Given the description of an element on the screen output the (x, y) to click on. 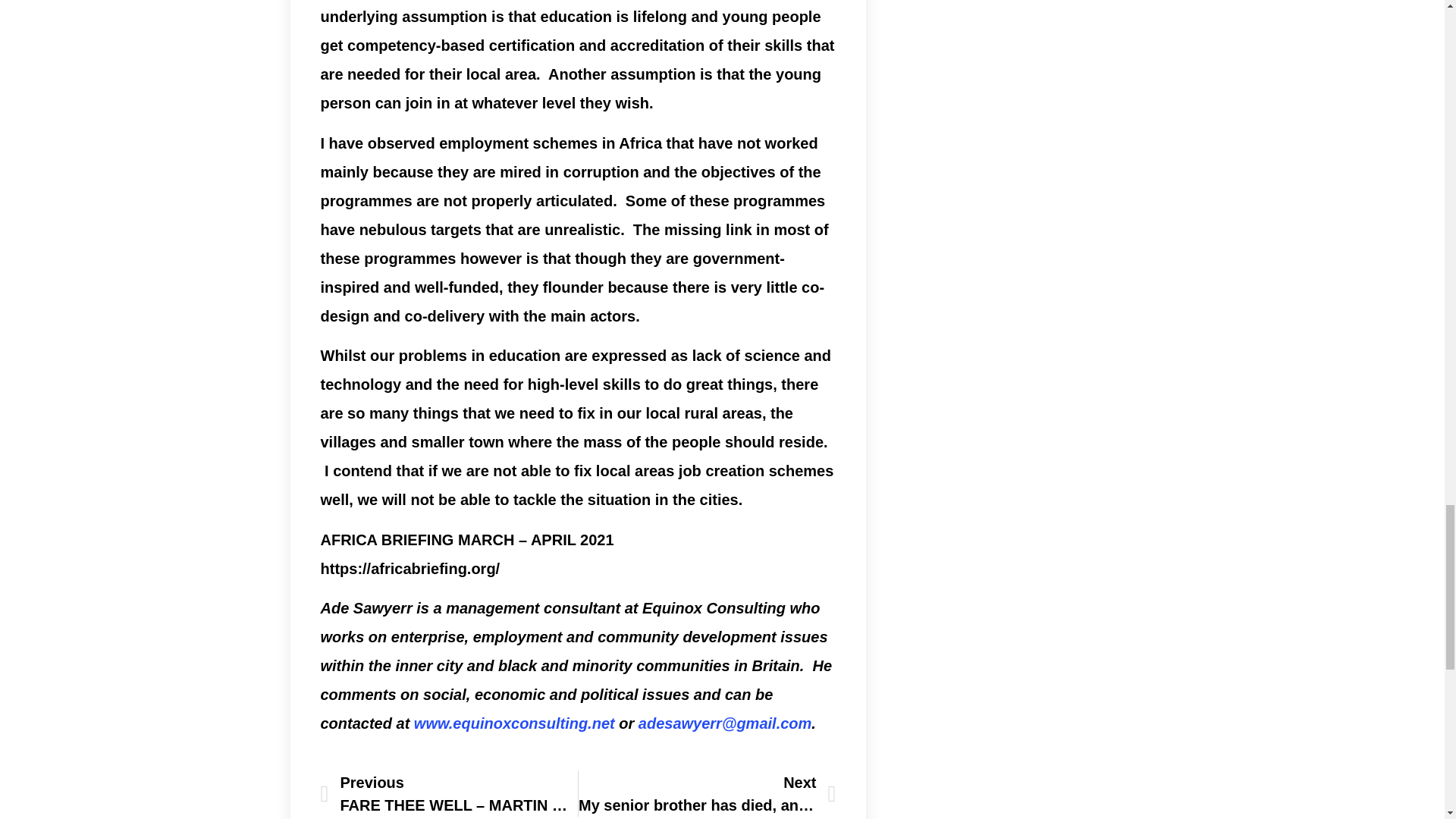
www.equinoxconsulting.net (513, 723)
